Given the description of an element on the screen output the (x, y) to click on. 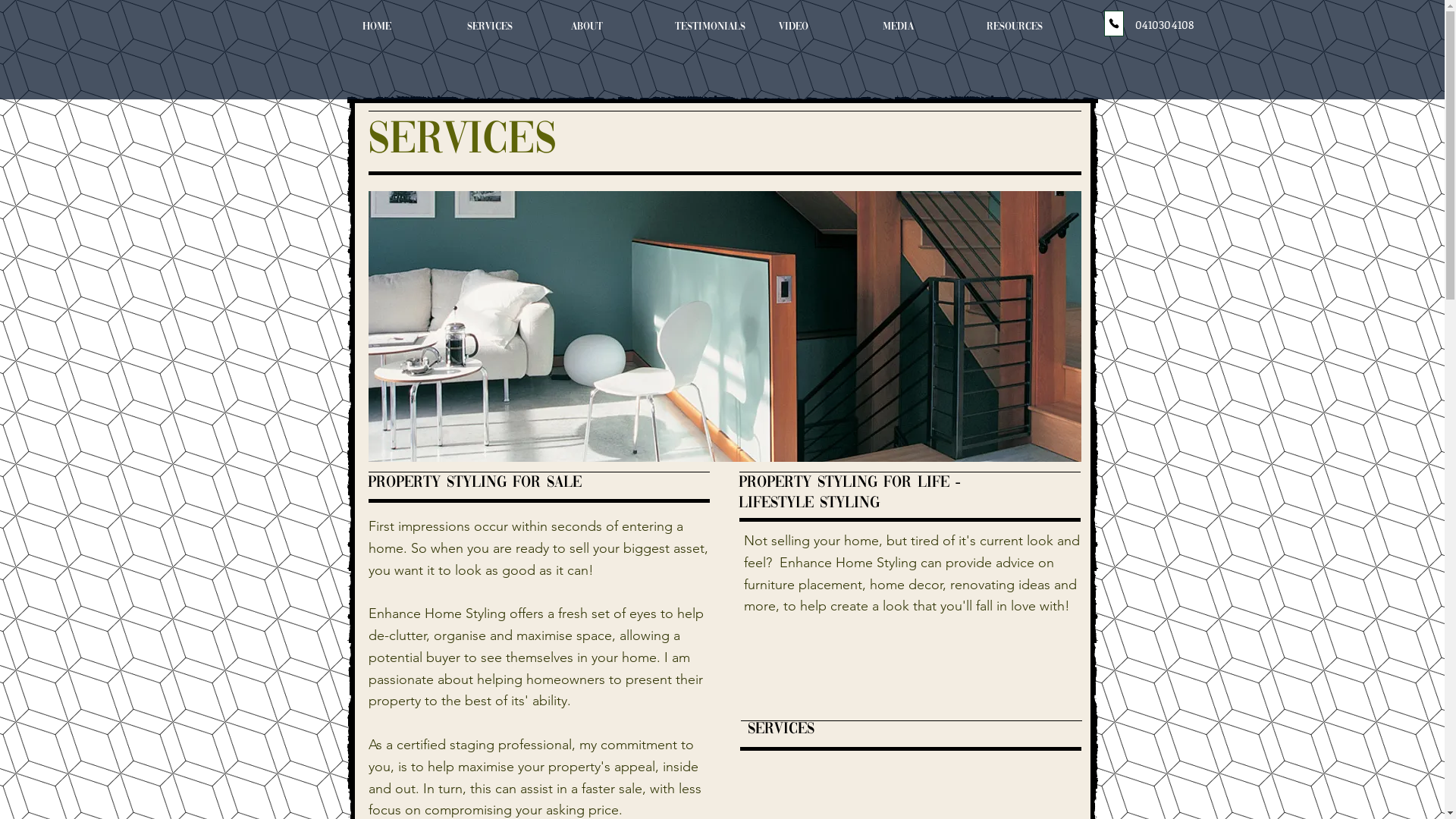
Media Element type: text (922, 26)
Resources Element type: text (1027, 26)
Video Element type: text (819, 26)
About Element type: text (611, 26)
Home Element type: text (402, 26)
Services Element type: text (506, 26)
Testimonials Element type: text (714, 26)
